Given the description of an element on the screen output the (x, y) to click on. 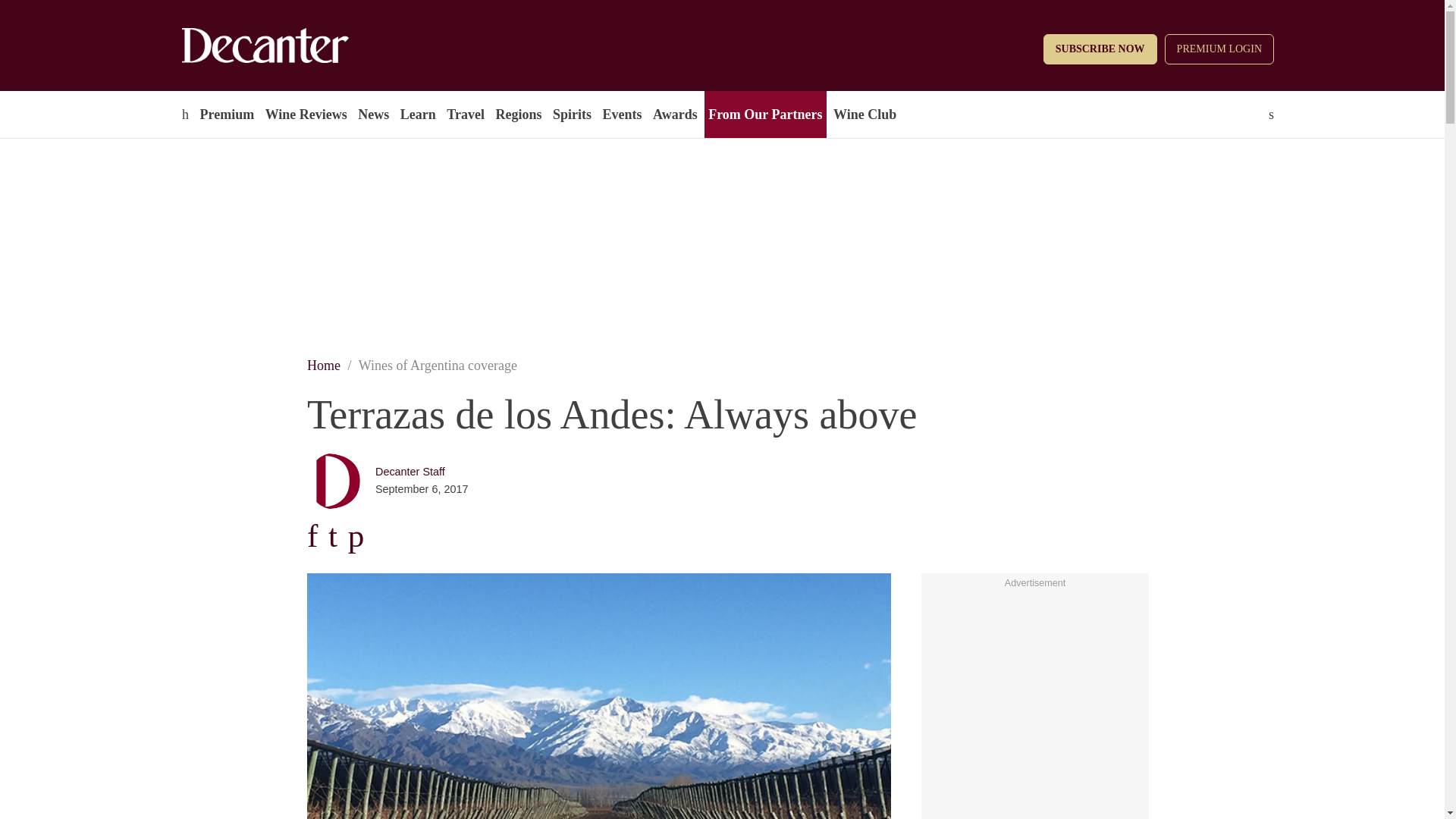
Premium (226, 114)
Decanter (297, 45)
Advertisement (1034, 687)
Wine Reviews (306, 114)
Travel (464, 114)
Awards (675, 114)
Learn (417, 114)
News (373, 114)
